Given the description of an element on the screen output the (x, y) to click on. 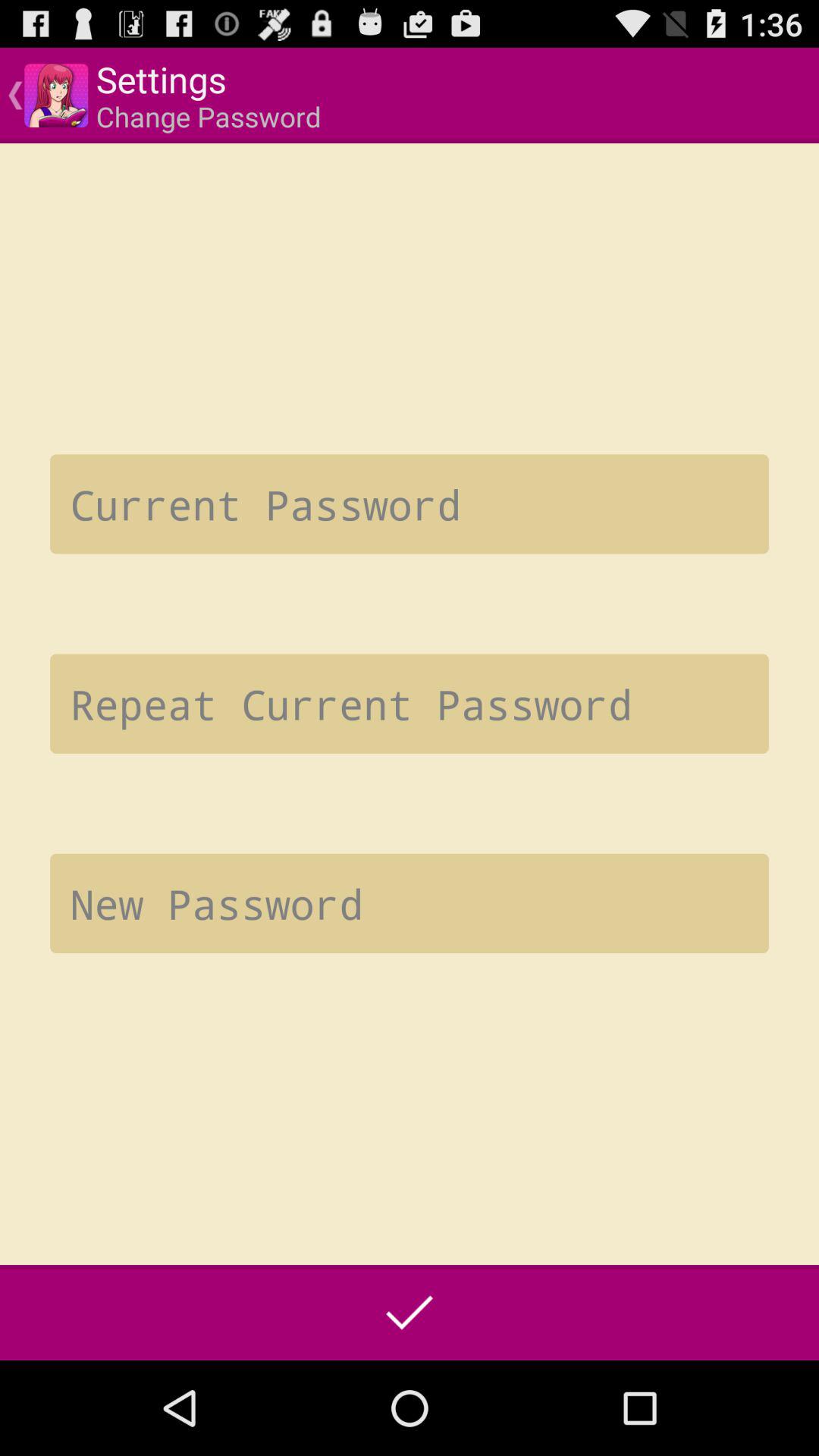
enter password (409, 503)
